Given the description of an element on the screen output the (x, y) to click on. 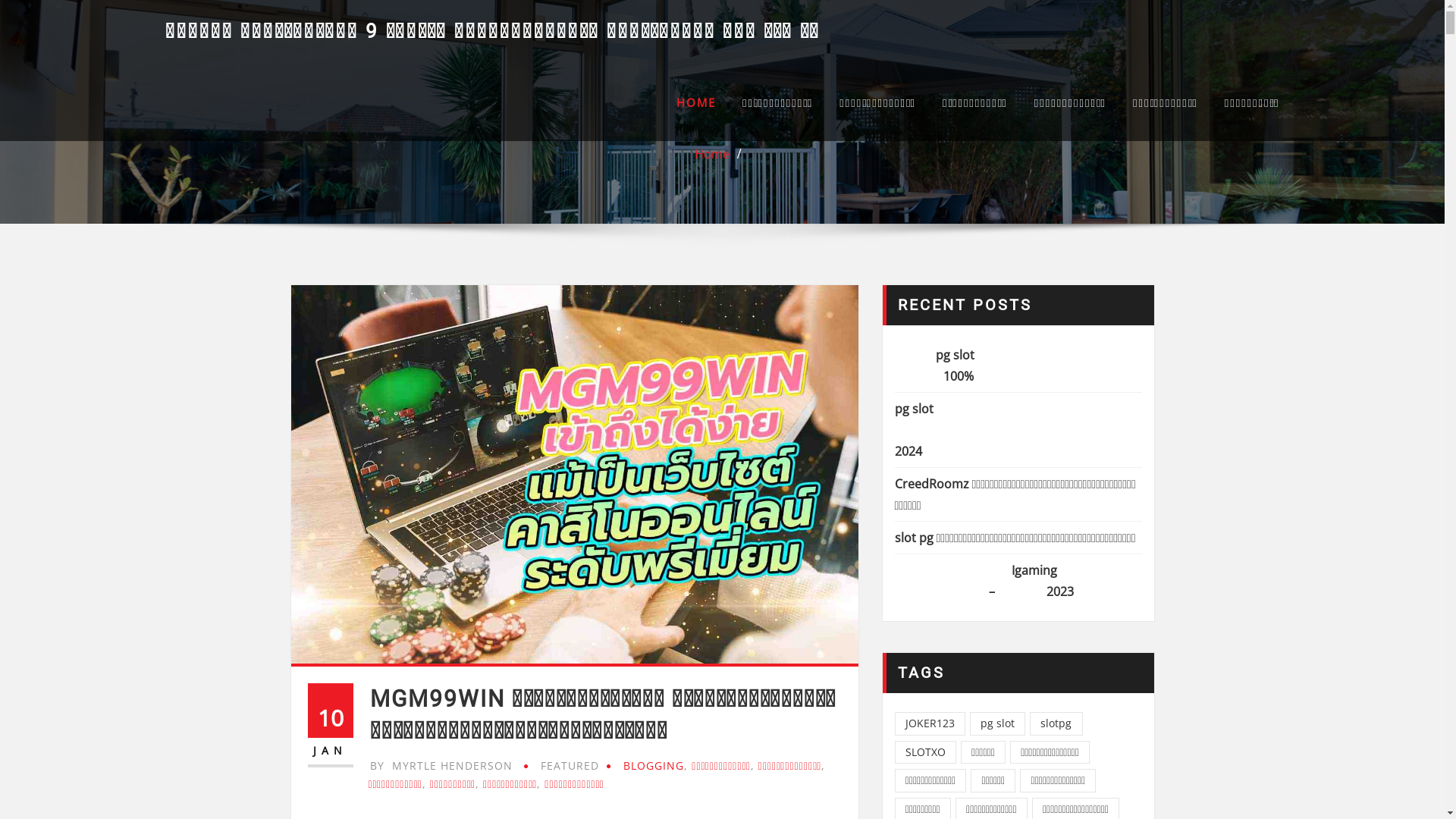
Home Element type: text (711, 153)
BY MYRTLE HENDERSON Element type: text (441, 765)
pg slot Element type: text (997, 723)
BLOGGING Element type: text (653, 765)
SLOTXO Element type: text (925, 752)
10
JAN Element type: text (330, 725)
JOKER123 Element type: text (929, 723)
HOME Element type: text (695, 102)
slotpg Element type: text (1055, 723)
